Given the description of an element on the screen output the (x, y) to click on. 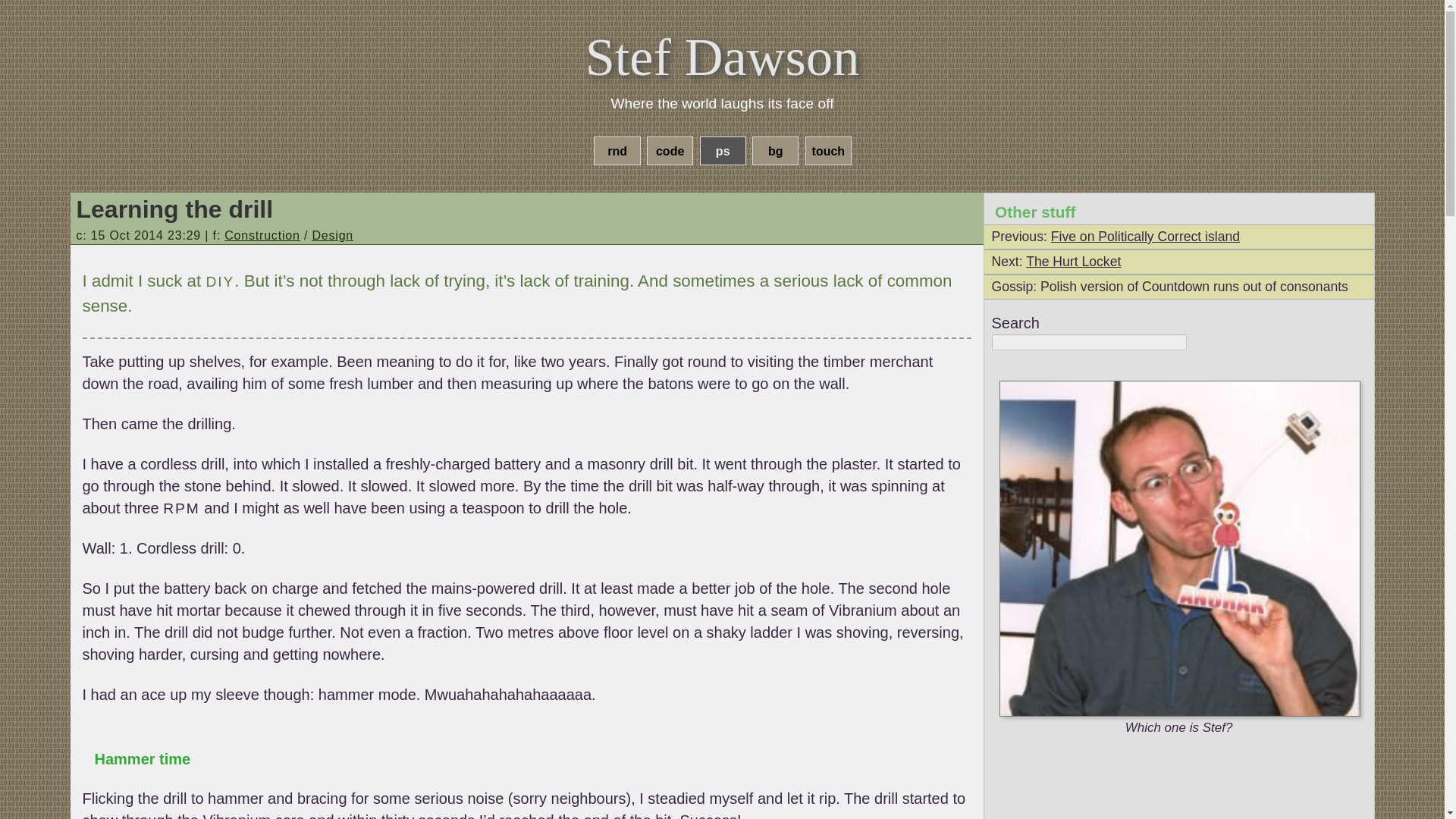
ps (721, 150)
touch (828, 150)
Five on Politically Correct island (1145, 236)
Which one is Stef? (1178, 548)
Learning the drill (174, 208)
code (669, 150)
Construction (261, 235)
bg (774, 150)
Stef Dawson (722, 56)
Design (332, 235)
